Given the description of an element on the screen output the (x, y) to click on. 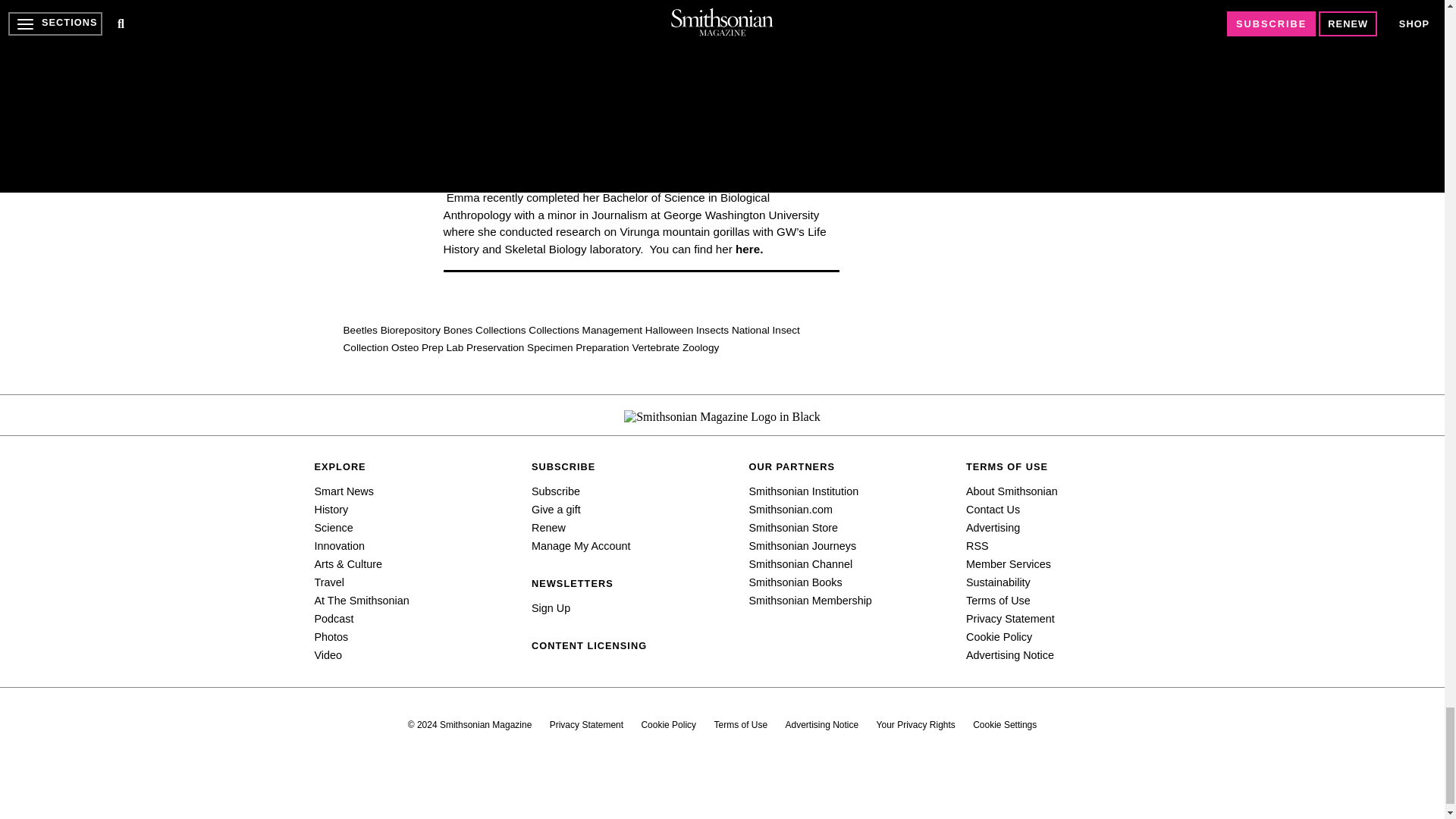
Read more from this author (553, 82)
